Given the description of an element on the screen output the (x, y) to click on. 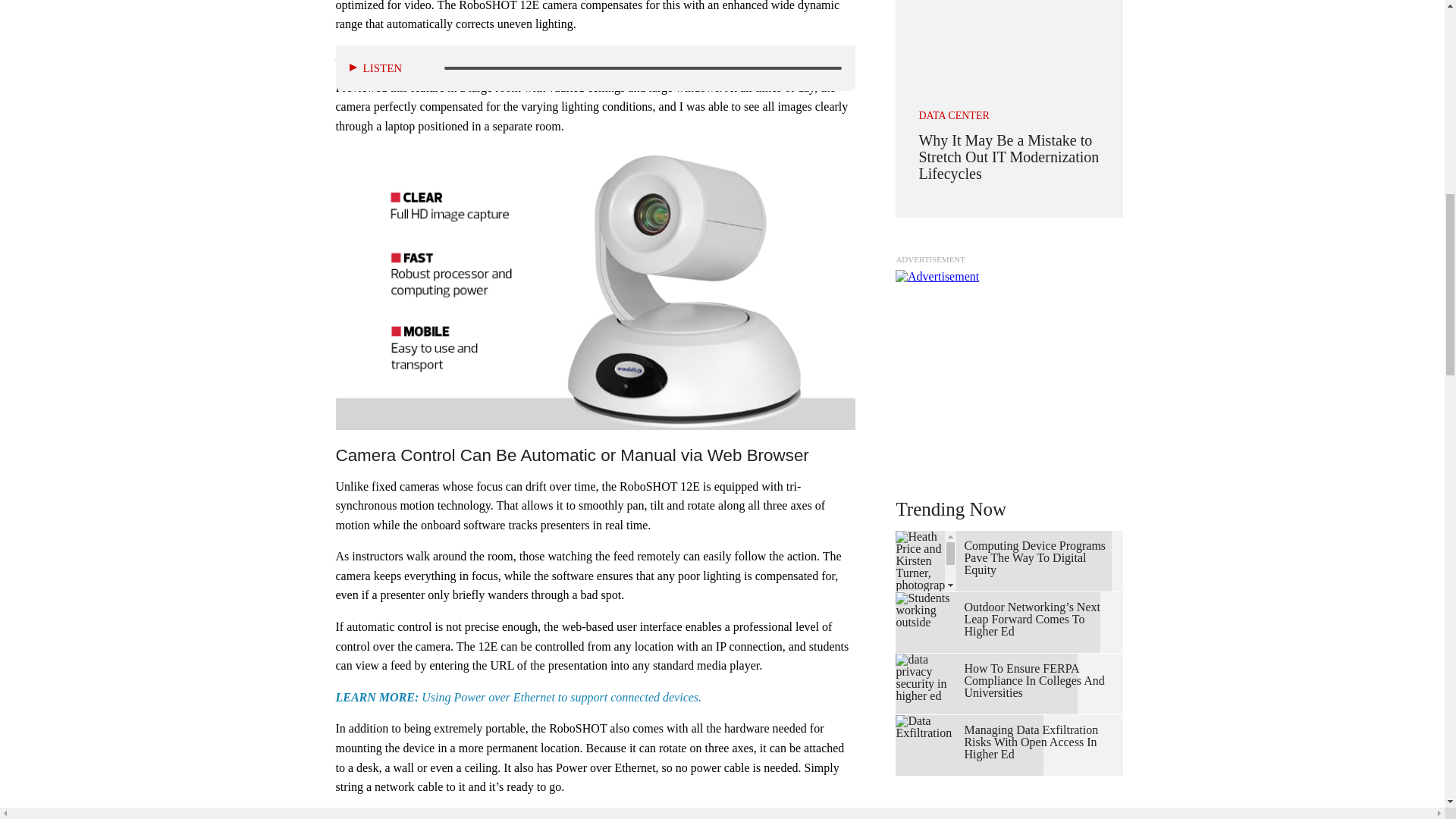
advertisement (1008, 364)
